Given the description of an element on the screen output the (x, y) to click on. 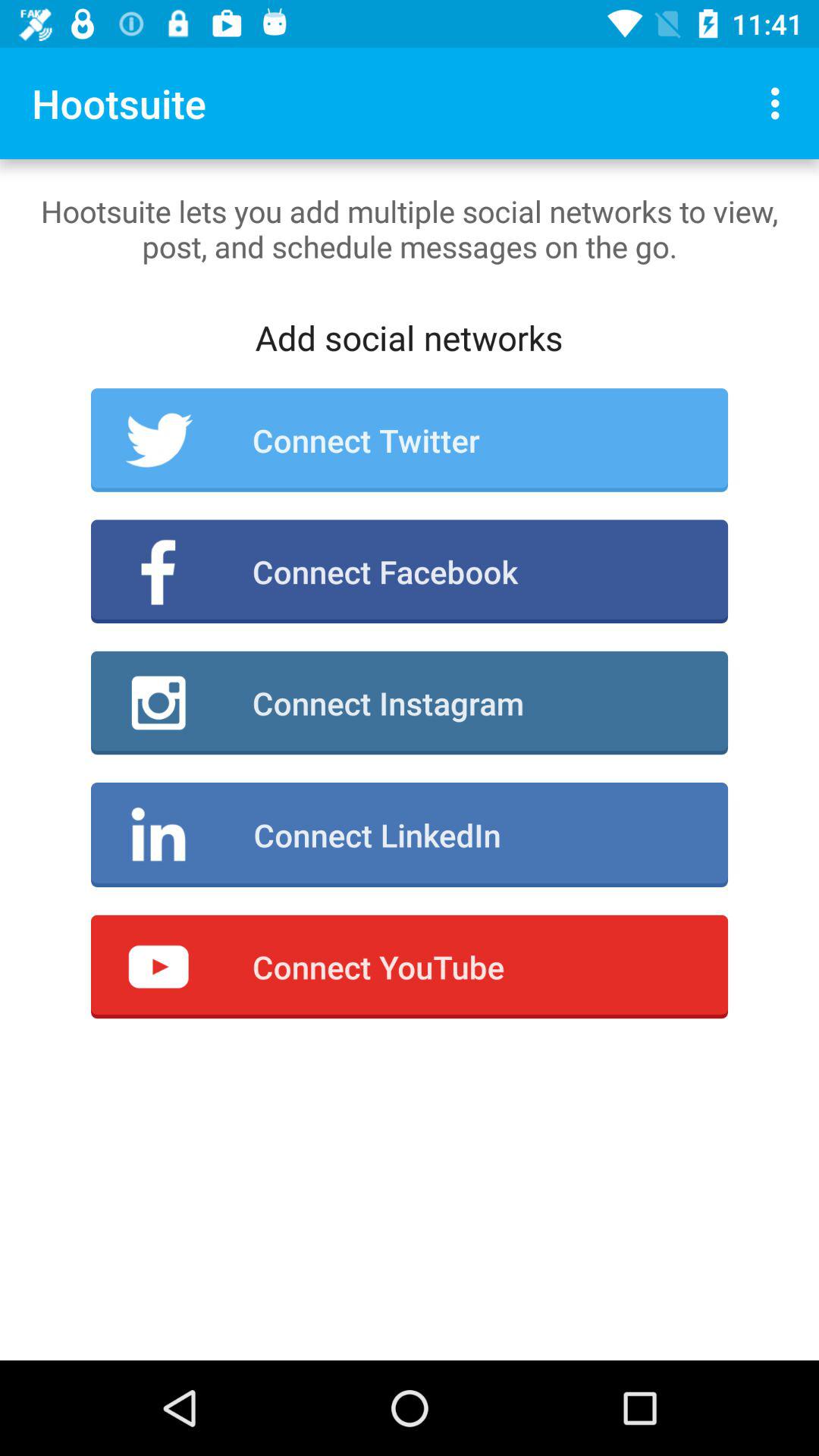
open icon next to hootsuite icon (779, 103)
